Given the description of an element on the screen output the (x, y) to click on. 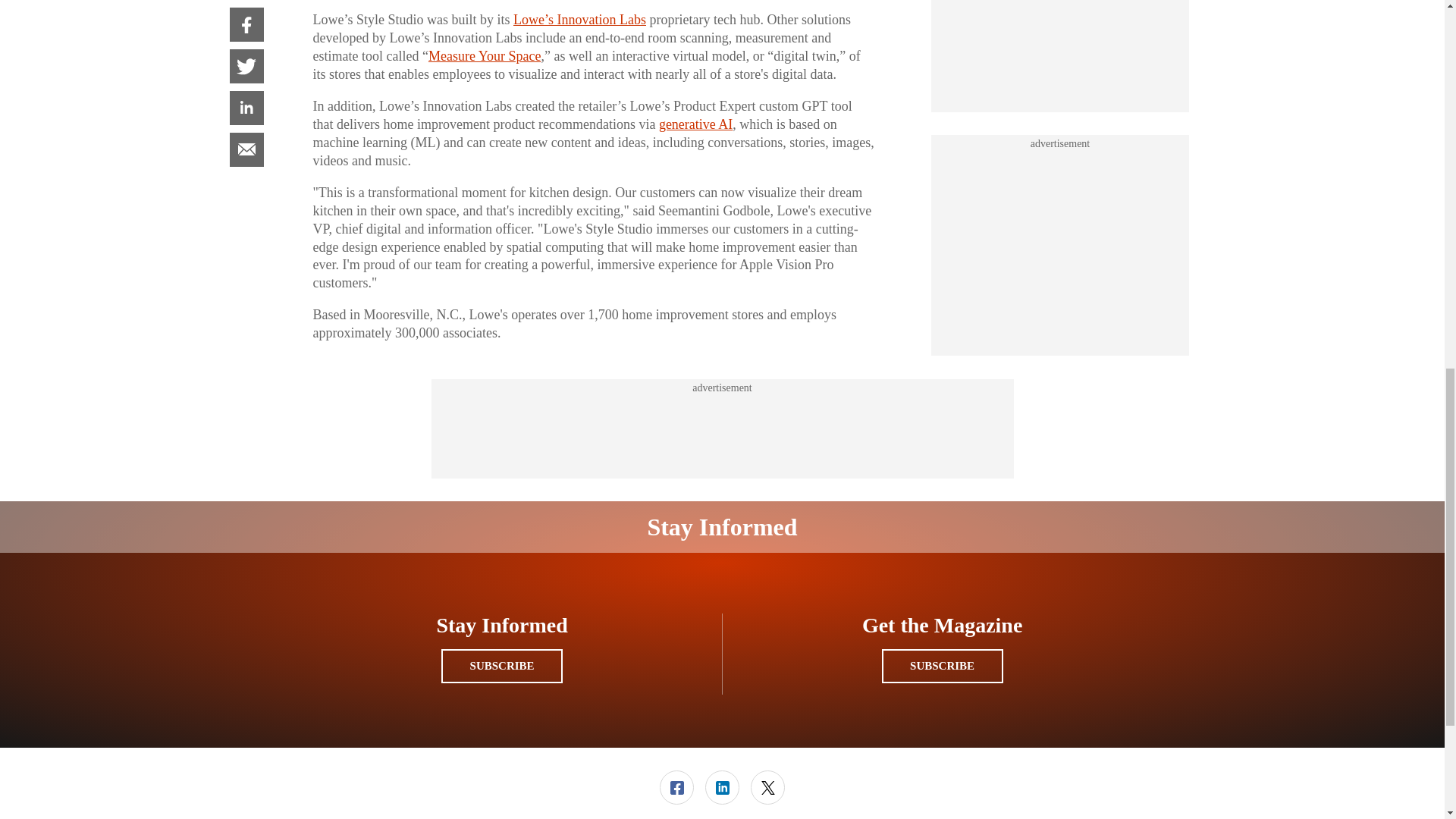
generative AI (695, 124)
Measure Your Space (484, 55)
3rd party ad content (1059, 35)
3rd party ad content (721, 428)
SUBSCRIBE (501, 666)
